Given the description of an element on the screen output the (x, y) to click on. 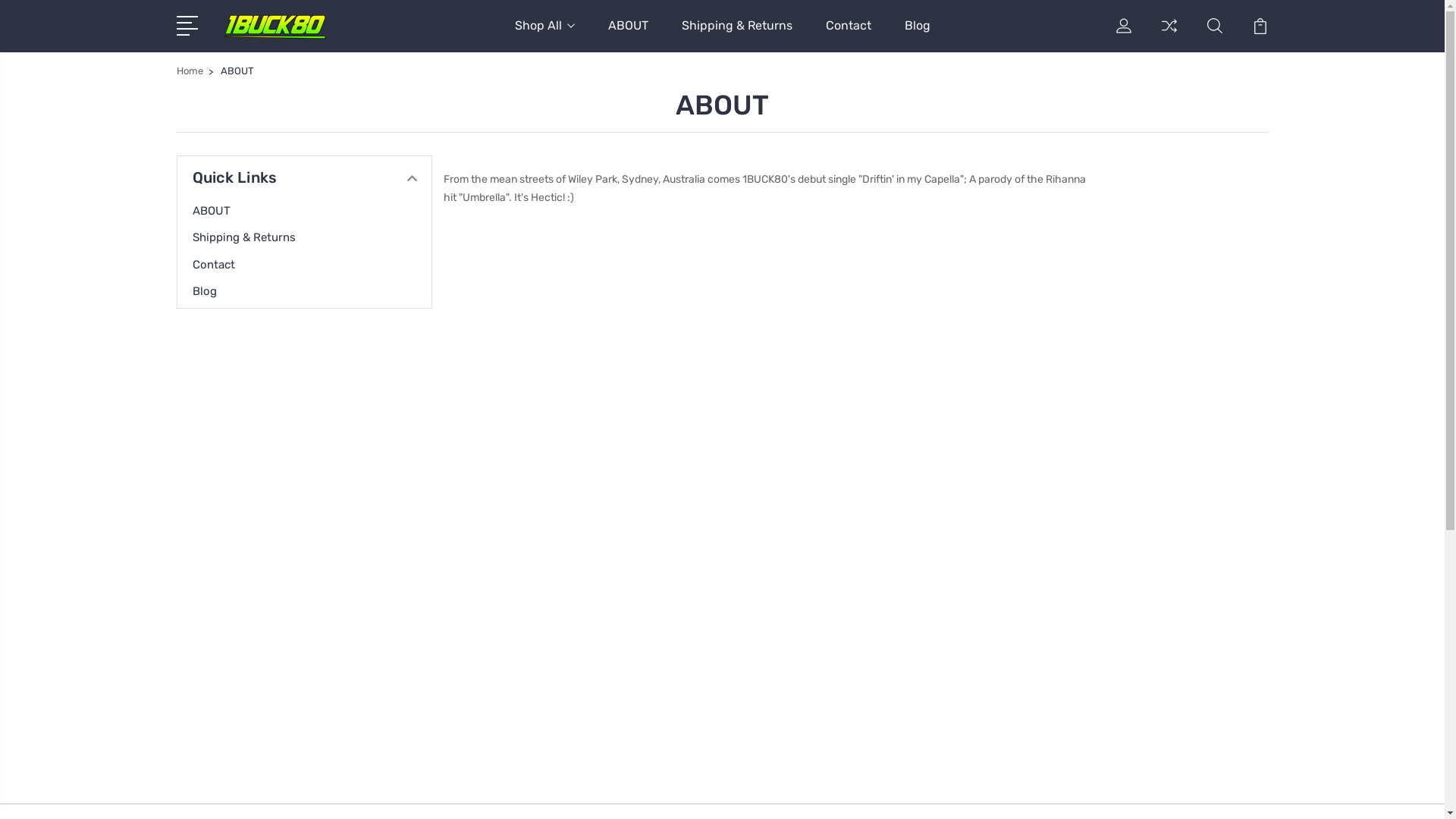
ABOUT Element type: text (628, 34)
Blog Element type: text (213, 291)
Contact Element type: text (223, 264)
Shipping & Returns Element type: text (735, 34)
Shop All Element type: text (544, 34)
Compare Element type: hover (1168, 34)
Shipping & Returns Element type: text (253, 237)
Contact Element type: text (847, 34)
Home Element type: text (188, 70)
1buck80 Element type: hover (273, 26)
ABOUT Element type: text (220, 210)
Blog Element type: text (916, 34)
